Given the description of an element on the screen output the (x, y) to click on. 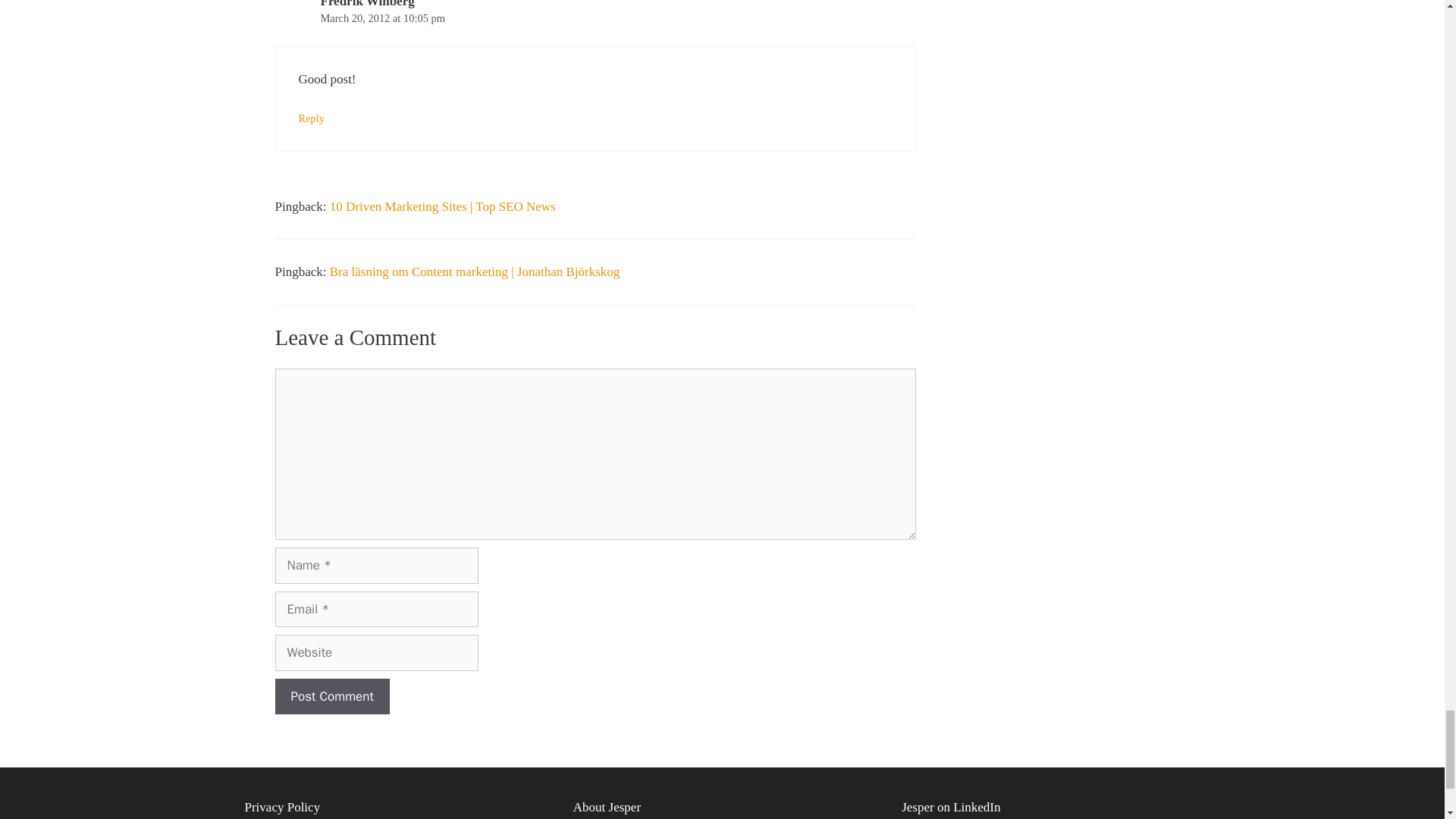
Reply (311, 118)
Post Comment (331, 696)
March 20, 2012 at 10:05 pm (382, 18)
